Given the description of an element on the screen output the (x, y) to click on. 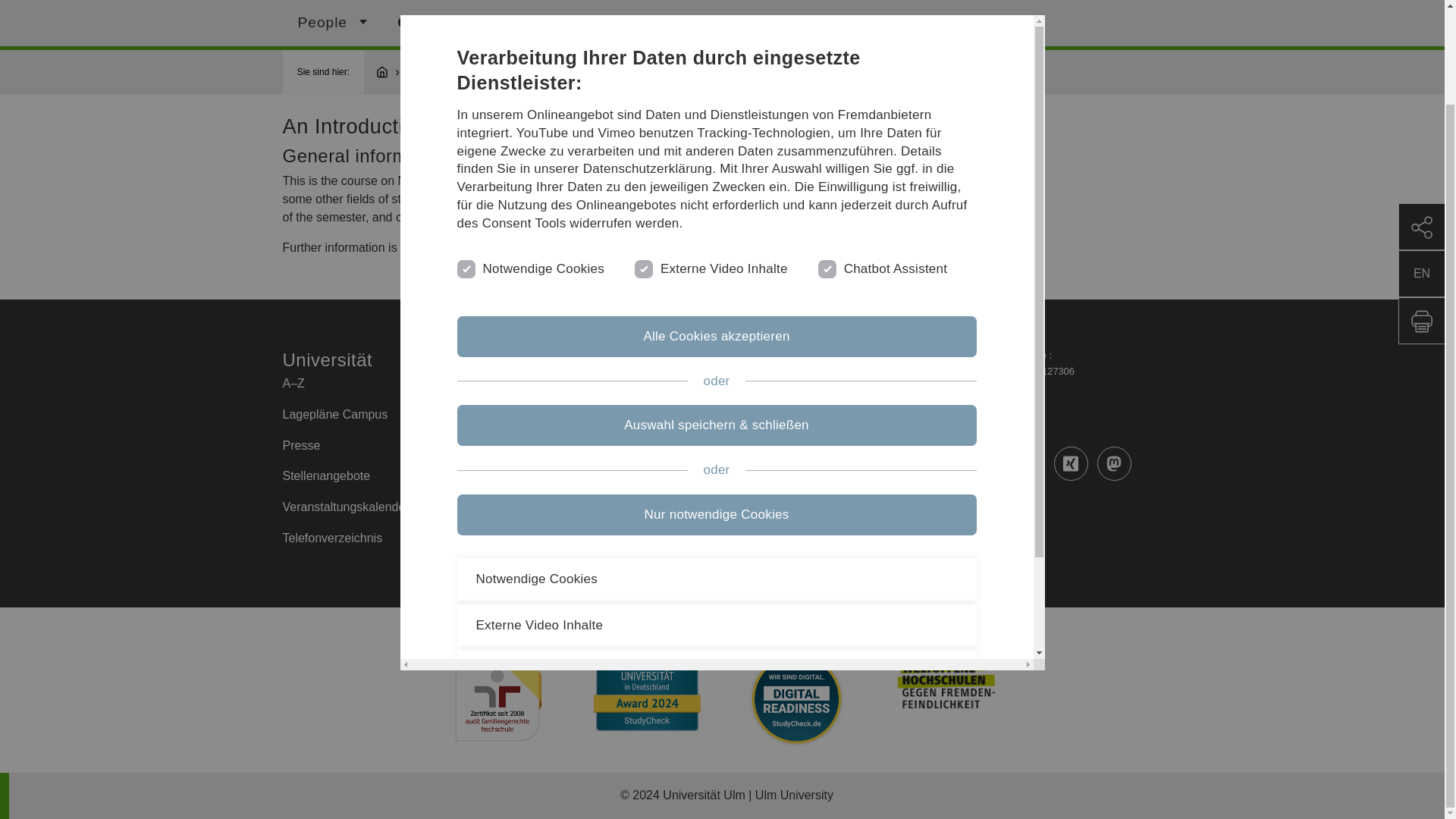
Show page in english (1421, 165)
Startseite (389, 72)
Suche (795, 22)
Teilen (1421, 117)
chatbot (825, 159)
essential (464, 159)
bluesky (897, 506)
link to homepage Prof. Dr. Alexander Lindner (929, 198)
external (641, 159)
mastodon (1114, 463)
